Given the description of an element on the screen output the (x, y) to click on. 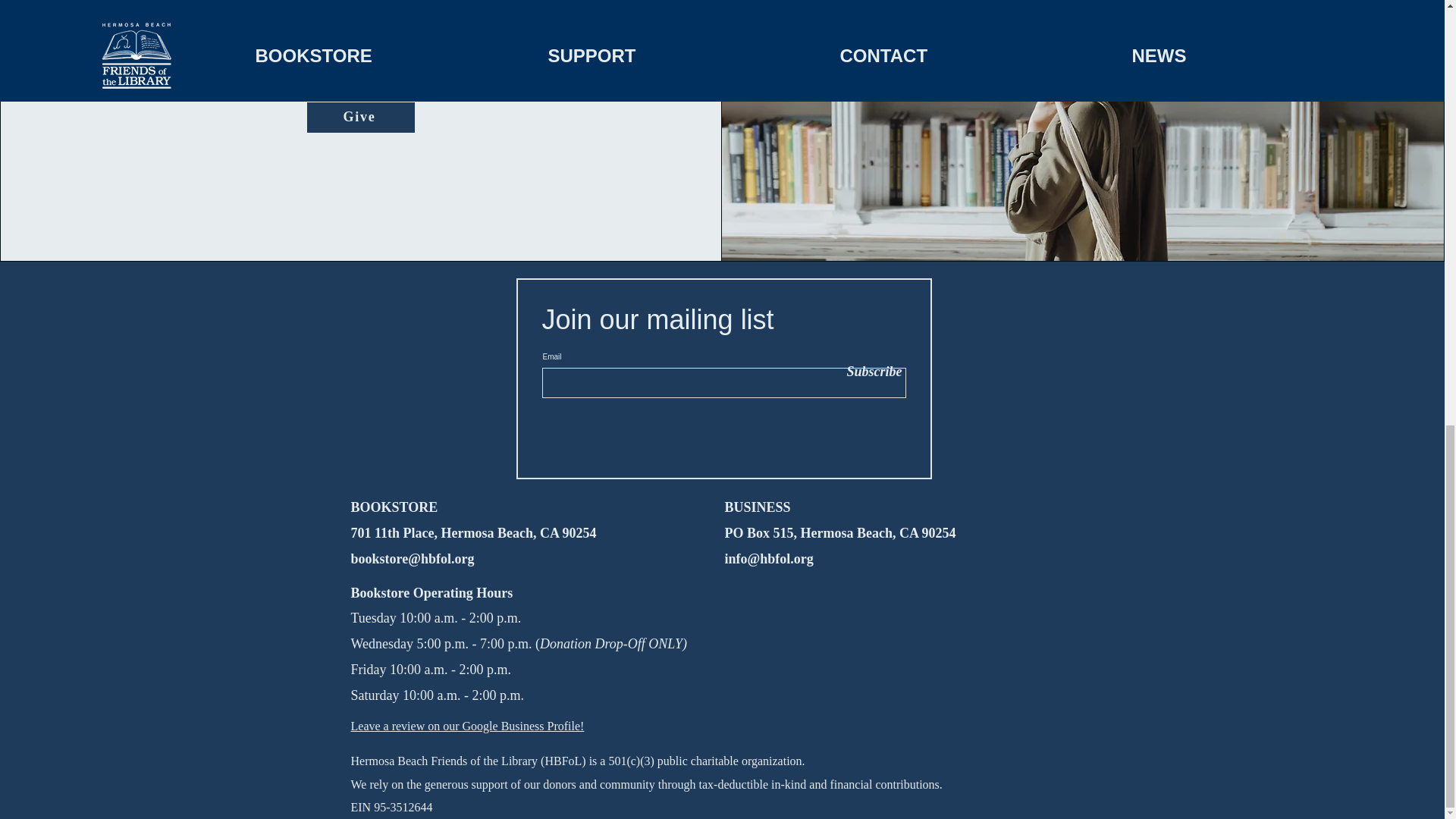
Subscribe (867, 371)
Give (360, 117)
Leave a review on our Google Business Profile! (466, 725)
